Given the description of an element on the screen output the (x, y) to click on. 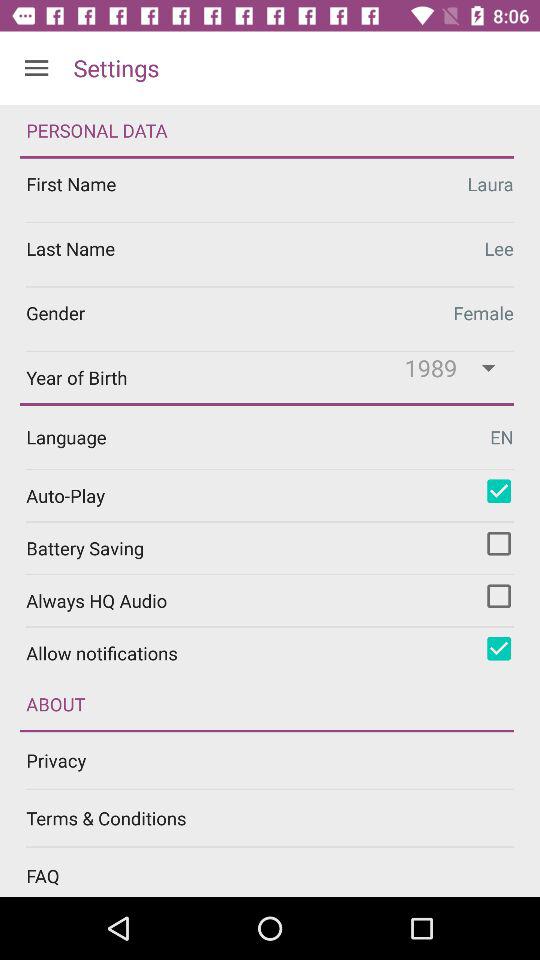
click the item to the right of always hq audio (499, 596)
